Given the description of an element on the screen output the (x, y) to click on. 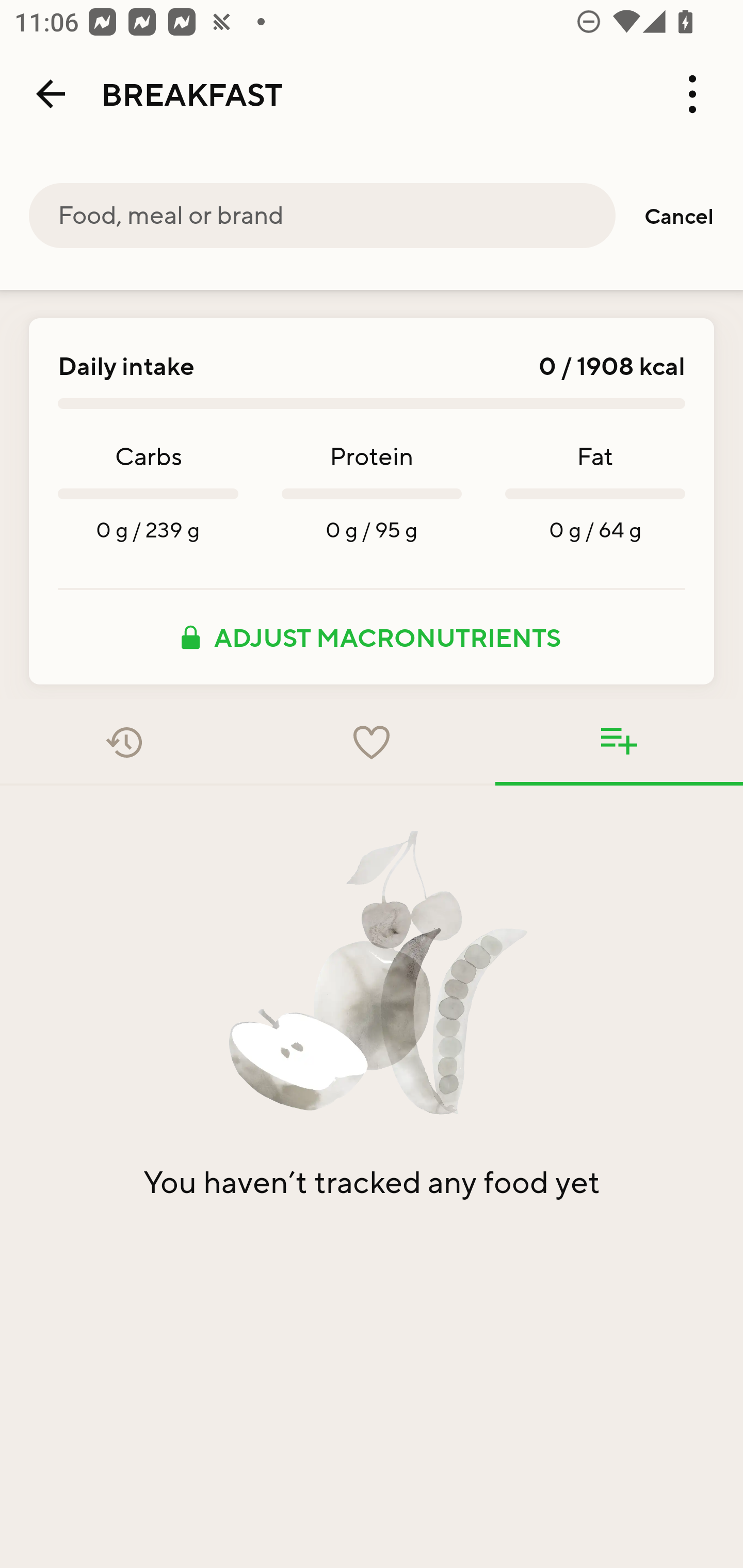
Back (50, 93)
Cancel (679, 215)
ADJUST MACRONUTRIENTS (371, 637)
Recent (123, 742)
Favorites (371, 742)
